Given the description of an element on the screen output the (x, y) to click on. 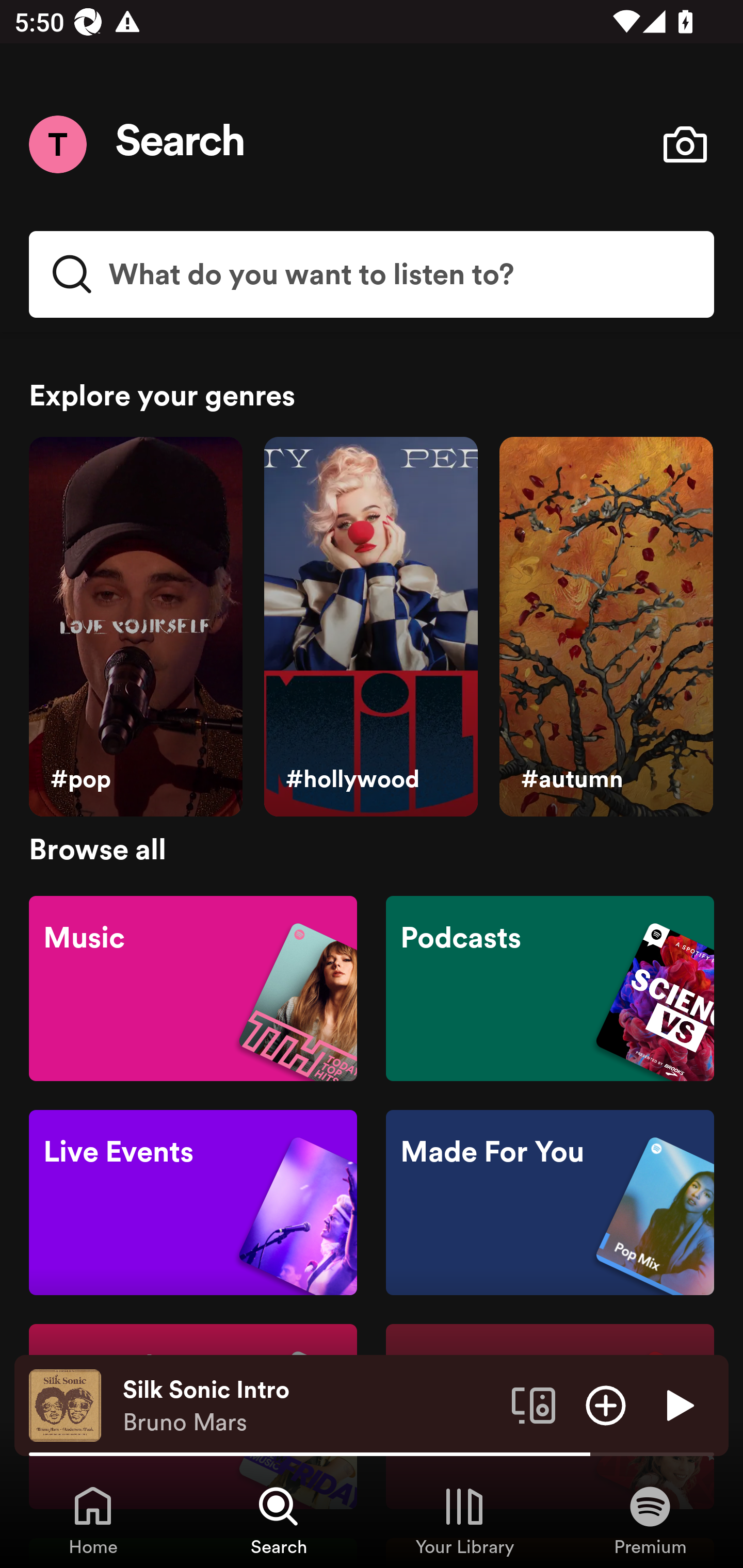
Menu (57, 144)
Open camera (685, 145)
Search (180, 144)
#pop (135, 626)
#hollywood (370, 626)
#autumn (606, 626)
Music (192, 987)
Podcasts (549, 987)
Live Events (192, 1202)
Made For You (549, 1202)
Silk Sonic Intro Bruno Mars (309, 1405)
The cover art of the currently playing track (64, 1404)
Connect to a device. Opens the devices menu (533, 1404)
Add item (605, 1404)
Play (677, 1404)
Home, Tab 1 of 4 Home Home (92, 1519)
Search, Tab 2 of 4 Search Search (278, 1519)
Your Library, Tab 3 of 4 Your Library Your Library (464, 1519)
Premium, Tab 4 of 4 Premium Premium (650, 1519)
